Given the description of an element on the screen output the (x, y) to click on. 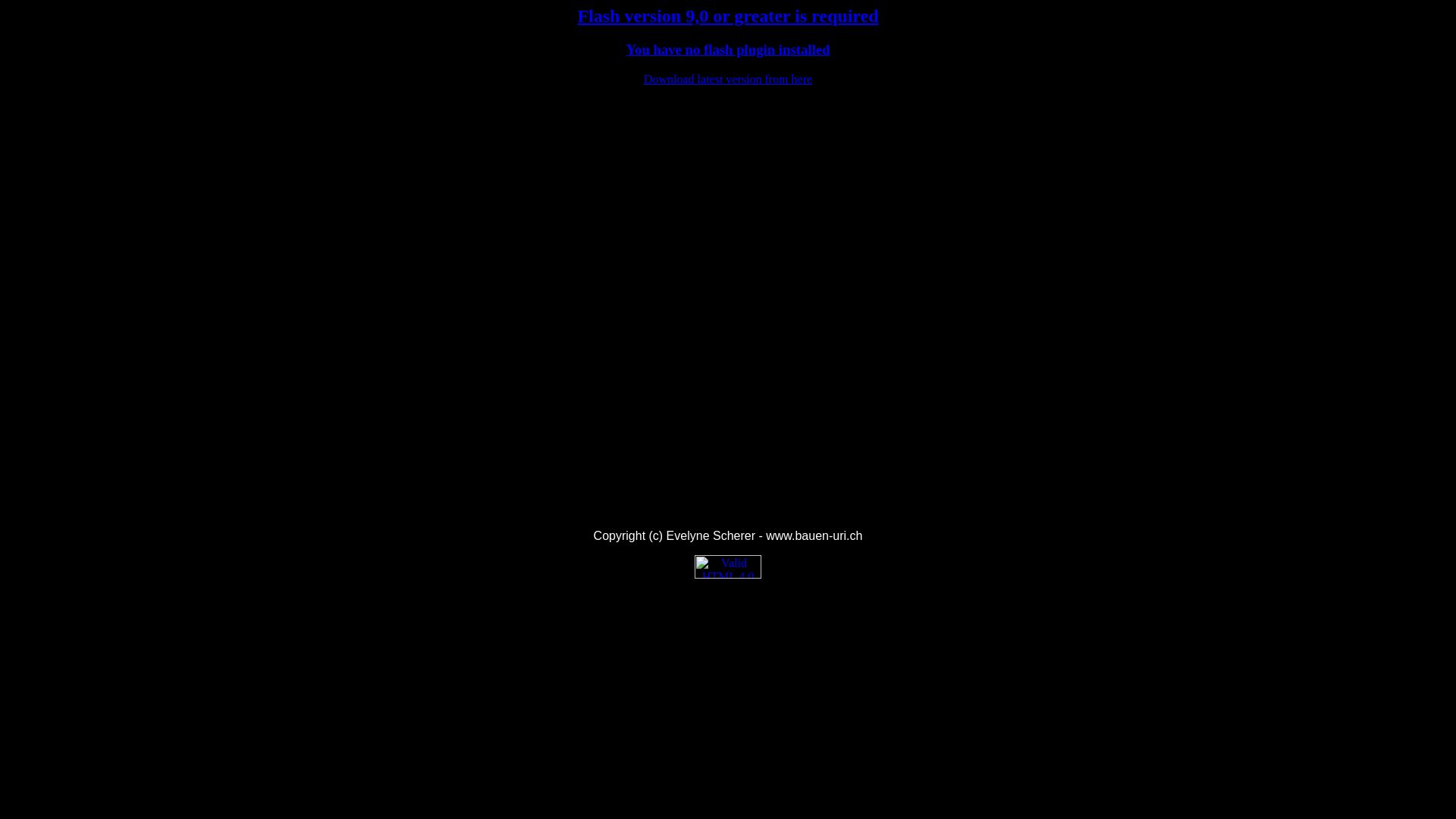
here Element type: text (801, 78)
